Given the description of an element on the screen output the (x, y) to click on. 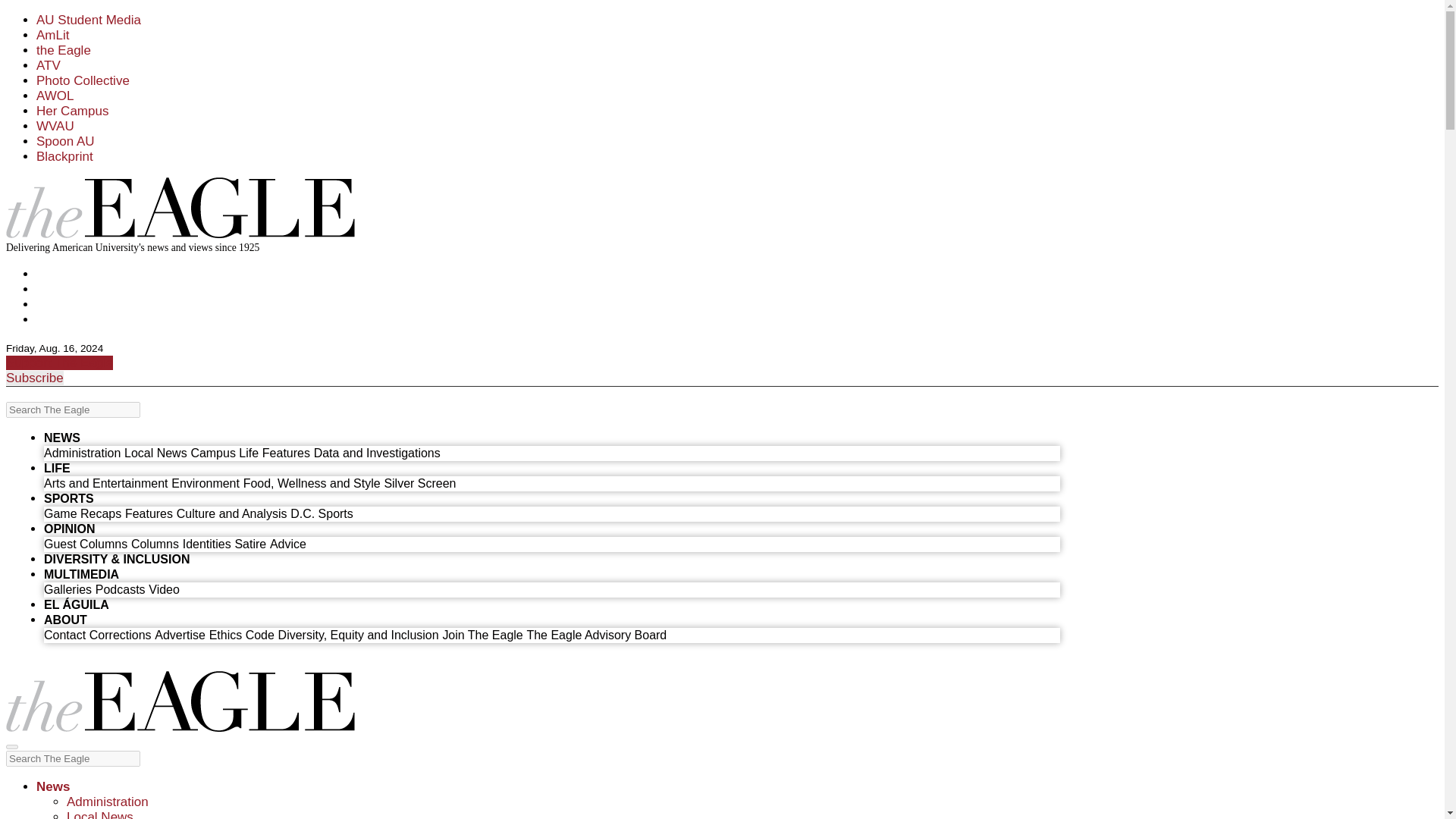
the Eagle (63, 50)
Local News (155, 452)
SPORTS (68, 498)
Data and Investigations (377, 452)
Spoon AU (65, 141)
Game Recaps (81, 513)
NEWS (61, 437)
ATV (48, 65)
Campus Life (224, 452)
Culture and Analysis (231, 513)
